Given the description of an element on the screen output the (x, y) to click on. 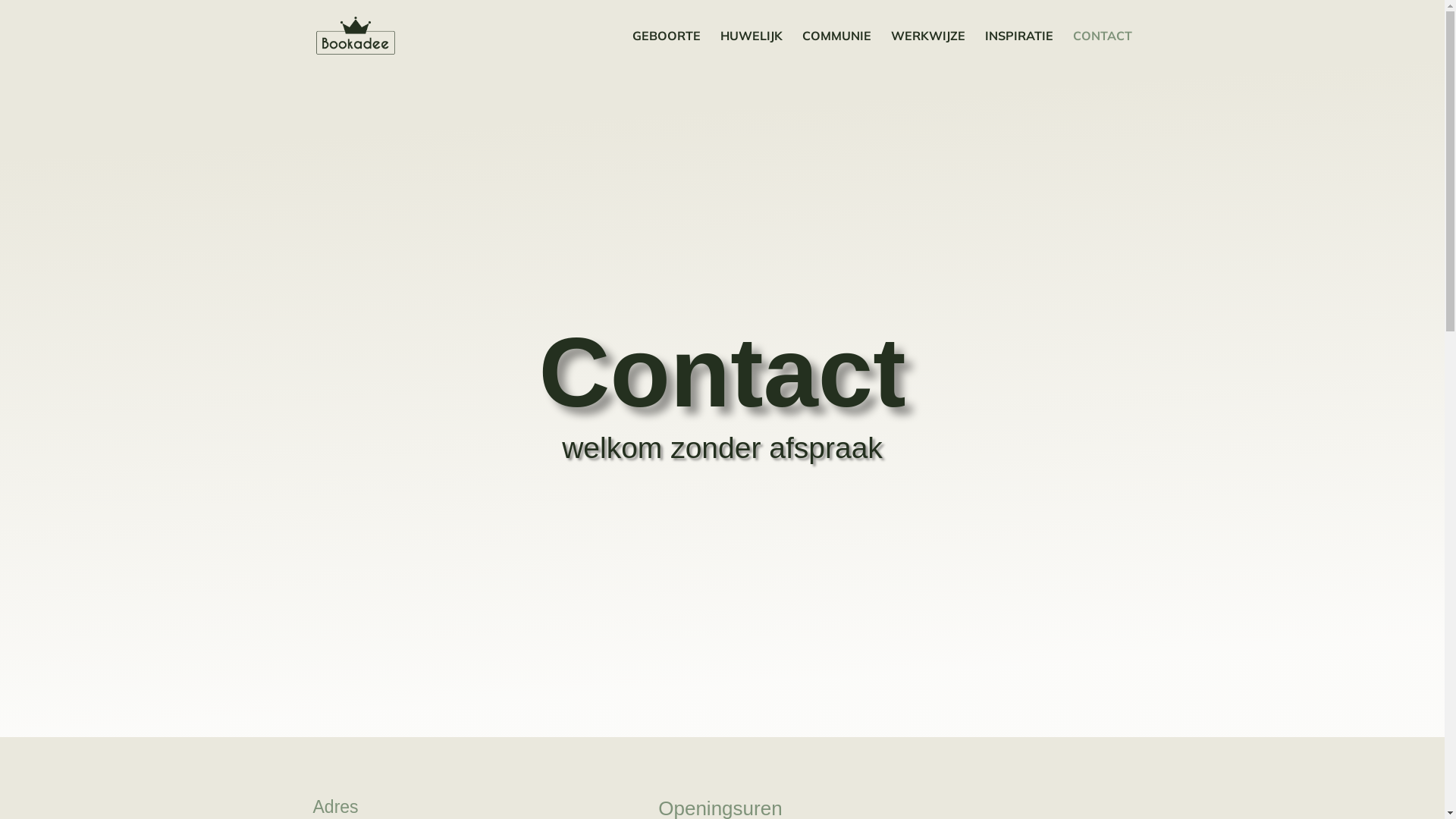
COMMUNIE Element type: text (836, 50)
WERKWIJZE Element type: text (927, 50)
INSPIRATIE Element type: text (1018, 50)
HUWELIJK Element type: text (751, 50)
CONTACT Element type: text (1101, 50)
GEBOORTE Element type: text (666, 50)
